Given the description of an element on the screen output the (x, y) to click on. 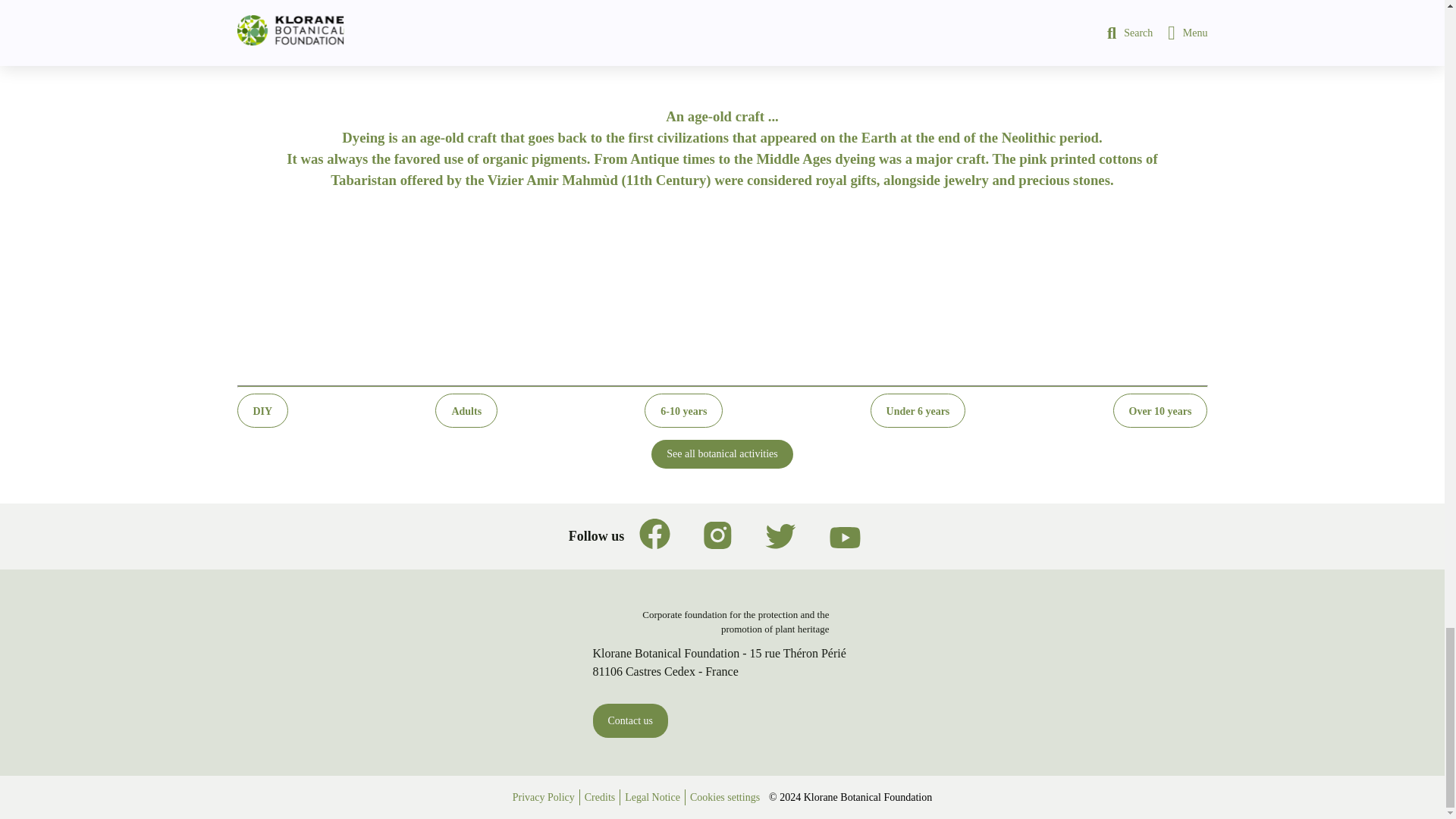
Over 10 years (1160, 410)
Privacy Policy (543, 797)
Under 6 years (918, 410)
Contact us (630, 720)
6-10 years (683, 410)
DIY (261, 410)
Adults (466, 410)
See all botanical activities (721, 453)
